Given the description of an element on the screen output the (x, y) to click on. 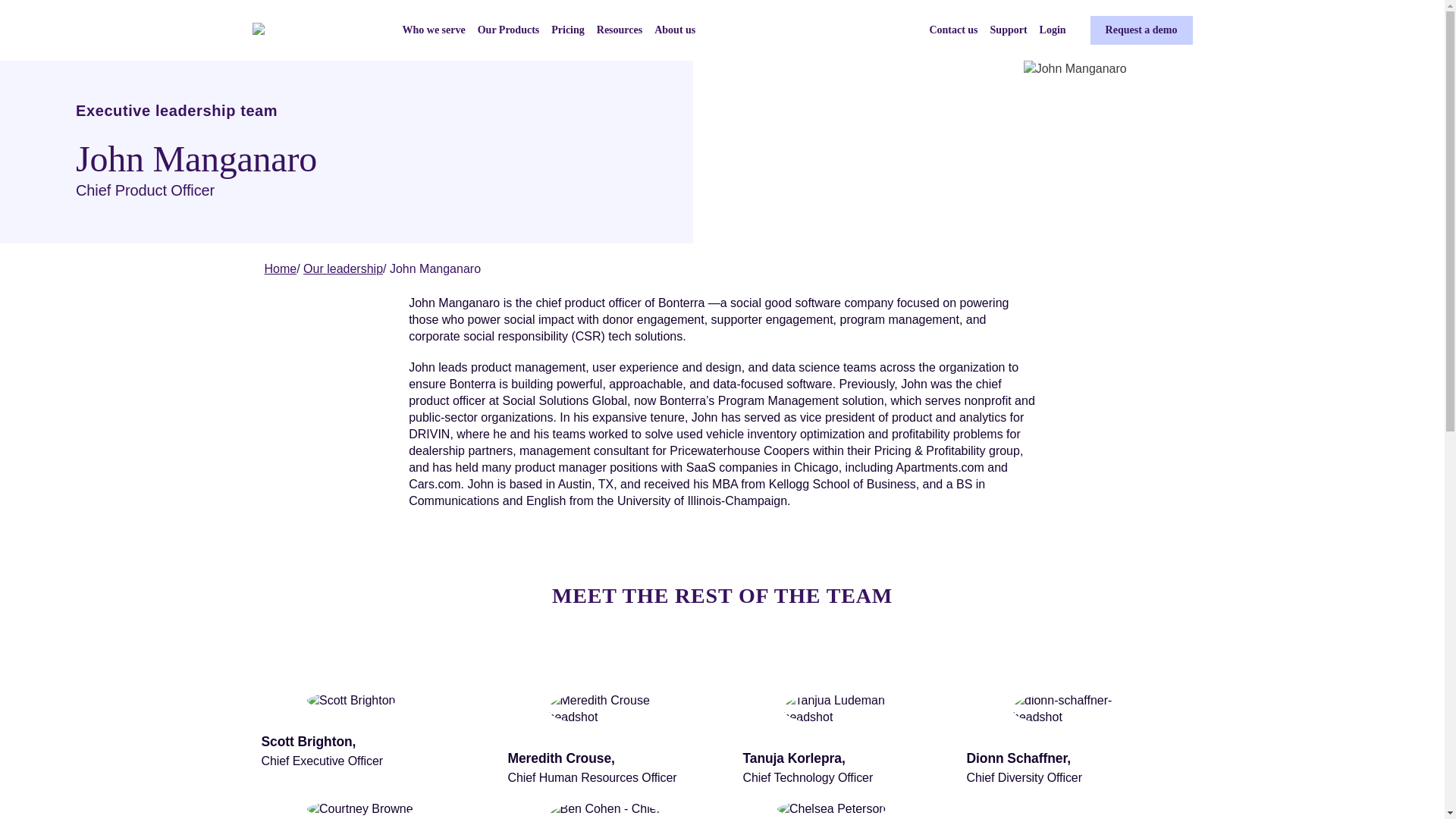
Support (1008, 29)
Login (1052, 29)
Resources (619, 30)
Our Products (508, 30)
Pricing (568, 30)
Request a demo (1141, 30)
Contact us (952, 29)
Who we serve (432, 30)
About us (674, 30)
